Given the description of an element on the screen output the (x, y) to click on. 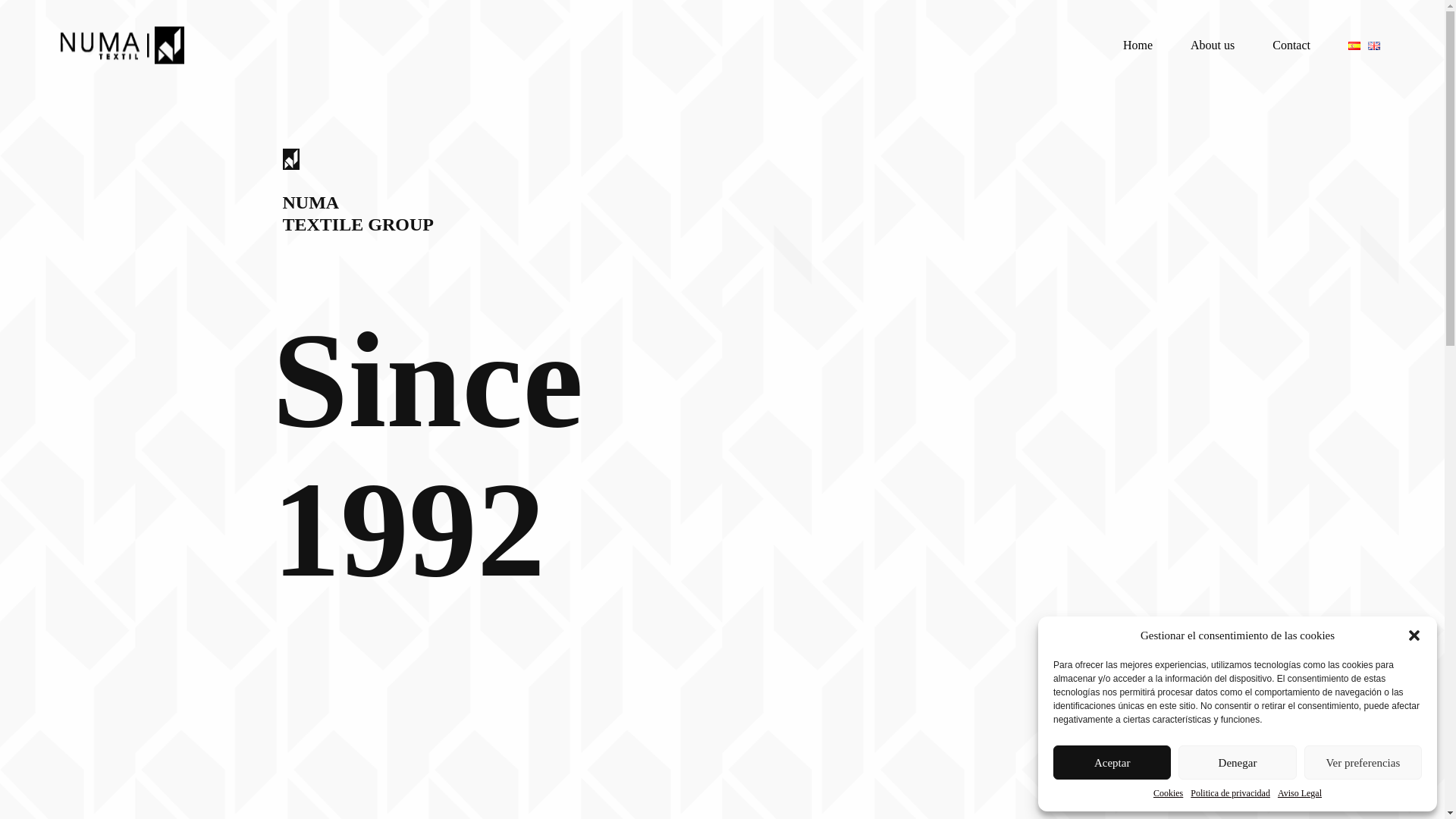
Politica de privacidad (1230, 793)
Aviso Legal (1300, 793)
Contact (1291, 45)
Cookies (1167, 793)
Ver preferencias (1363, 762)
Denegar (1236, 762)
Home (1137, 45)
About us (1212, 45)
Aceptar (1111, 762)
